Given the description of an element on the screen output the (x, y) to click on. 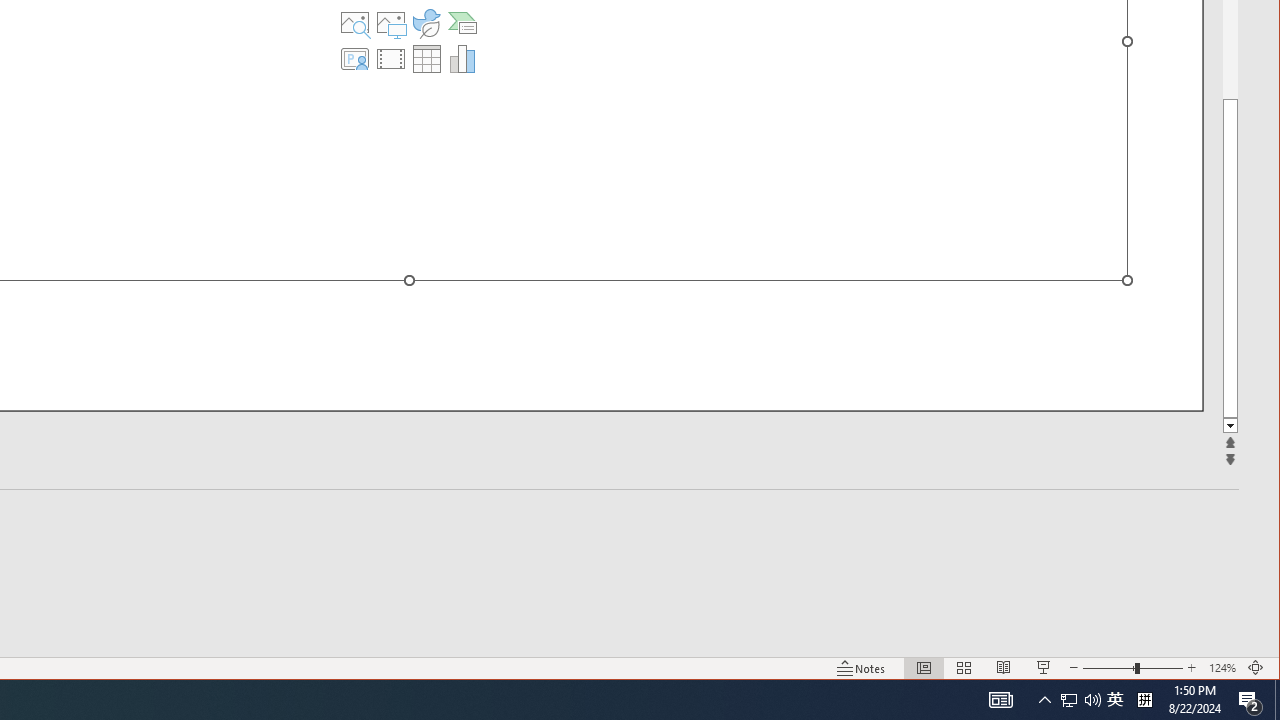
Insert Cameo (355, 58)
Insert Chart (462, 58)
Insert a SmartArt Graphic (462, 22)
